Given the description of an element on the screen output the (x, y) to click on. 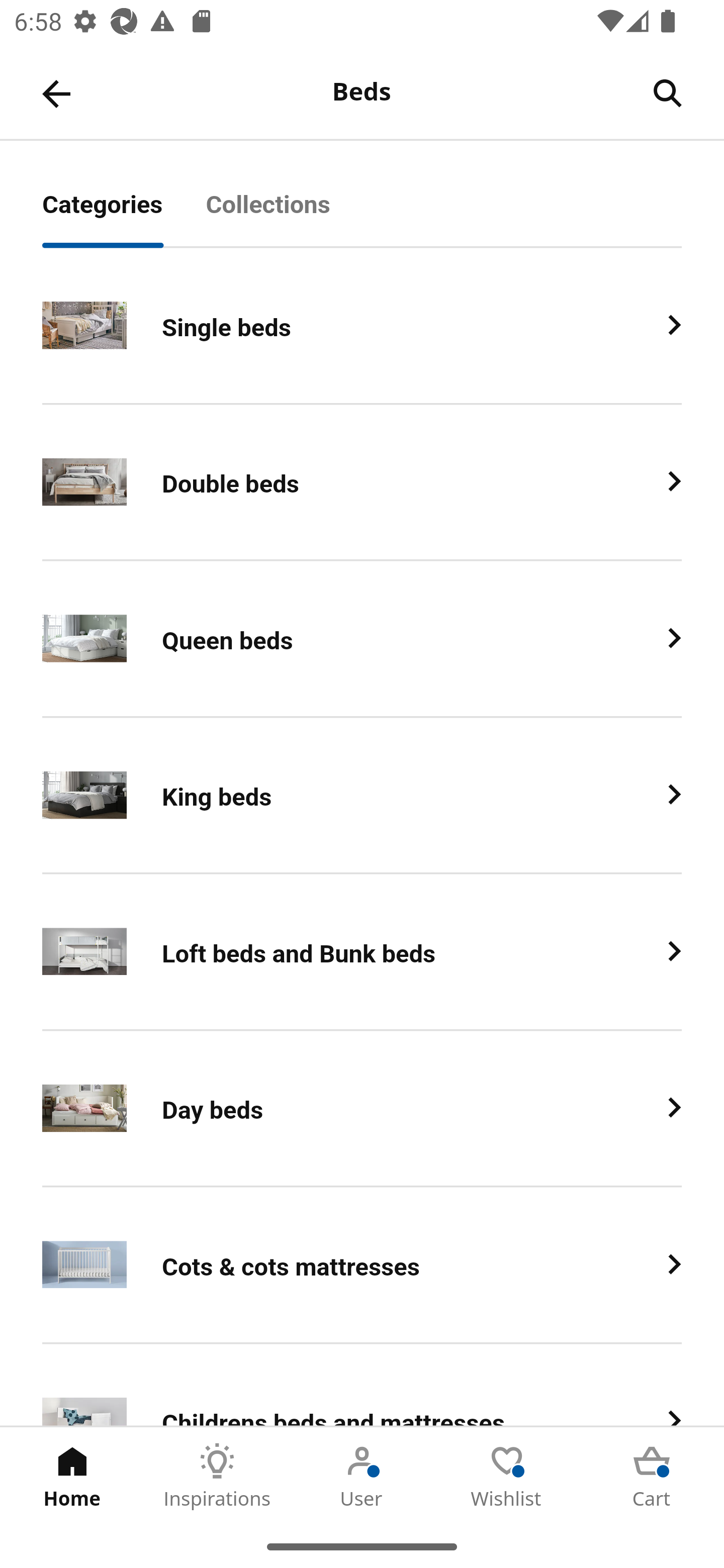
Categories
Tab 1 of 2 (123, 215)
Collections
Tab 2 of 2 (289, 215)
Single beds (361, 325)
Double beds (361, 482)
Queen beds (361, 639)
King beds (361, 796)
Loft beds and Bunk beds (361, 952)
Day beds (361, 1108)
Cots & cots mattresses (361, 1264)
Home
Tab 1 of 5 (72, 1476)
Inspirations
Tab 2 of 5 (216, 1476)
User
Tab 3 of 5 (361, 1476)
Wishlist
Tab 4 of 5 (506, 1476)
Cart
Tab 5 of 5 (651, 1476)
